Given the description of an element on the screen output the (x, y) to click on. 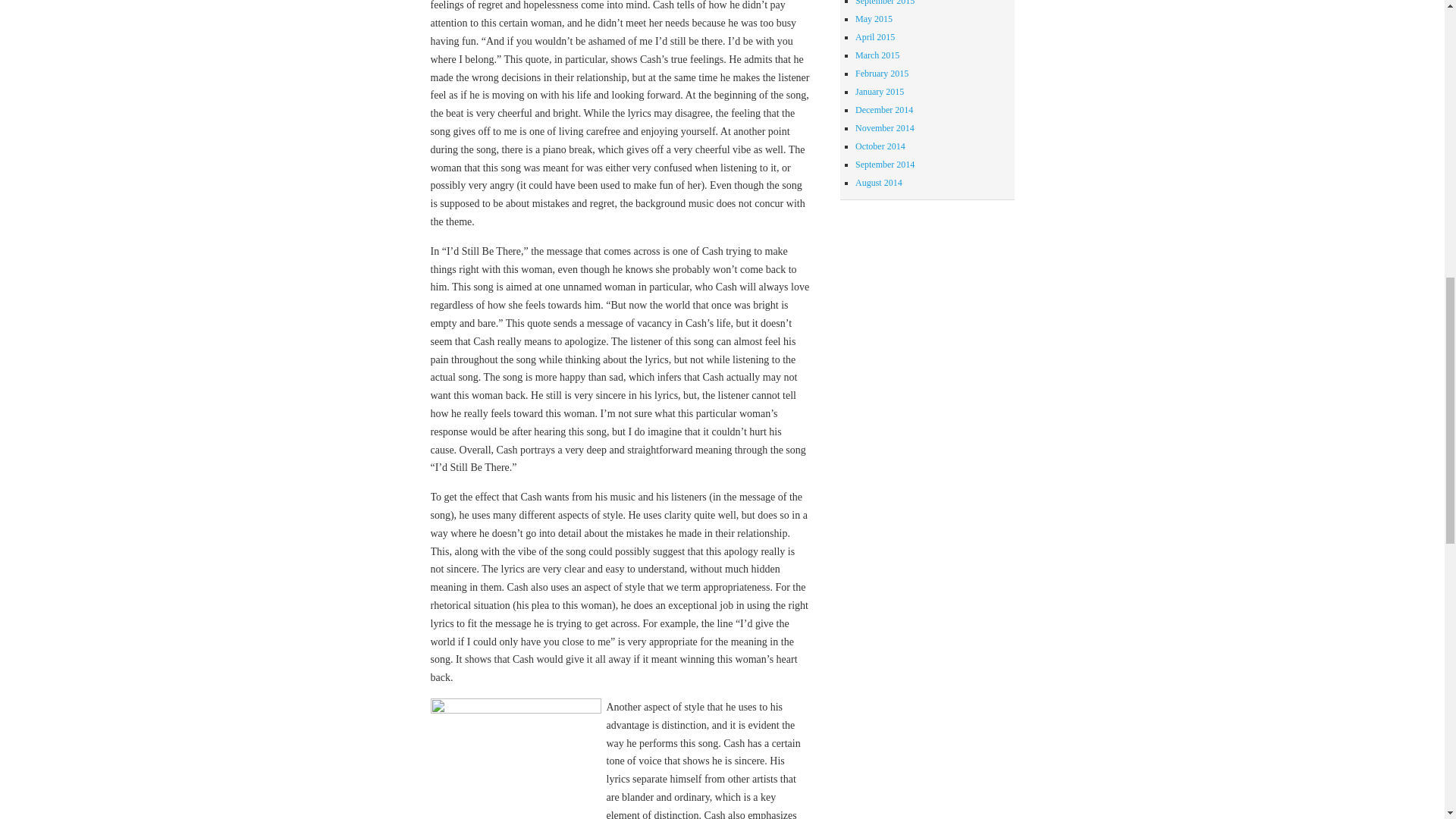
September 2015 (885, 2)
November 2014 (885, 127)
February 2015 (882, 72)
October 2014 (880, 145)
January 2015 (880, 91)
May 2015 (874, 18)
December 2014 (884, 109)
April 2015 (875, 36)
September 2014 (885, 163)
August 2014 (879, 182)
March 2015 (877, 54)
